Given the description of an element on the screen output the (x, y) to click on. 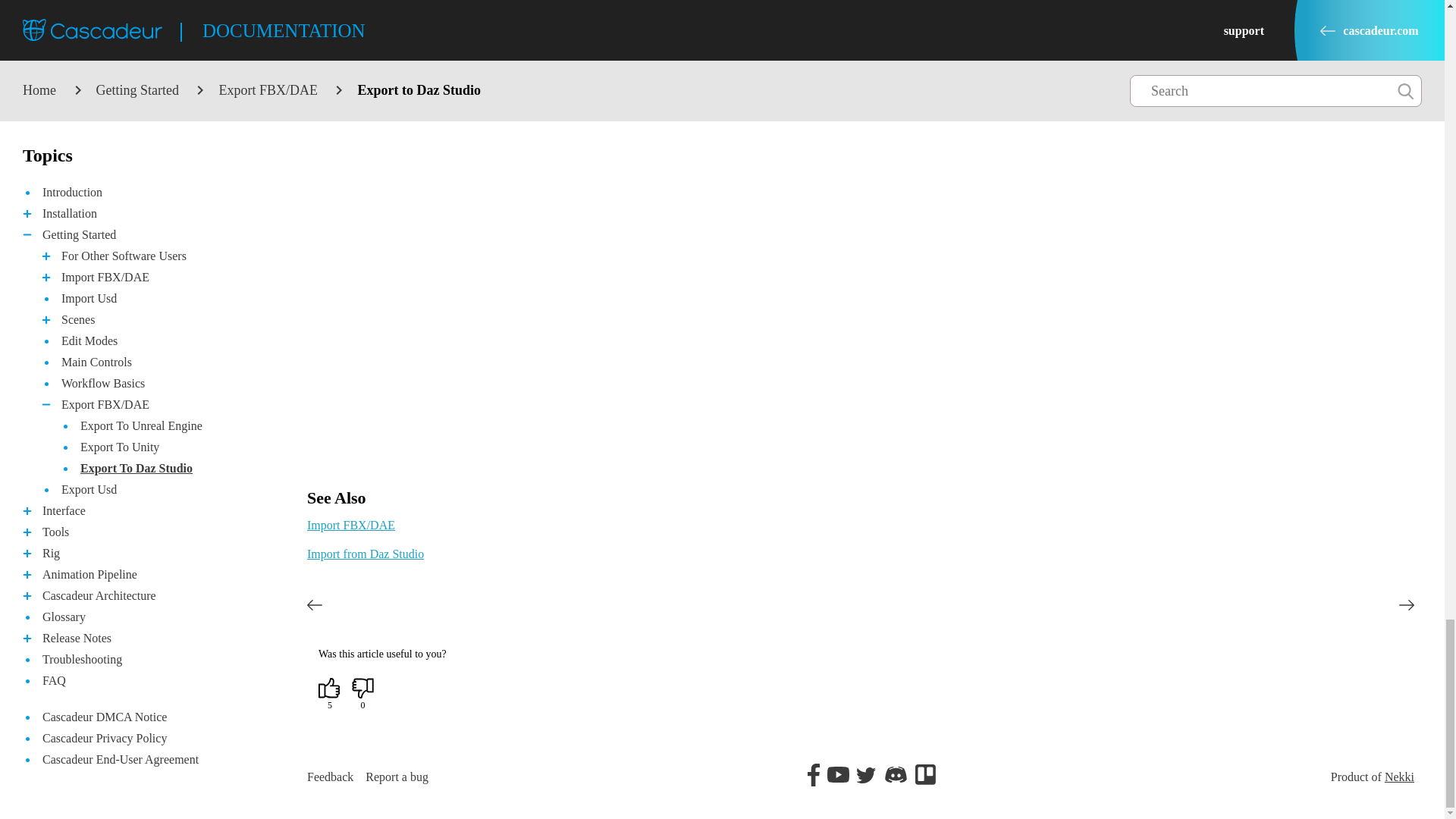
Yes (329, 688)
No (363, 688)
YouTube video player (519, 91)
YouTube video player (519, 318)
